Given the description of an element on the screen output the (x, y) to click on. 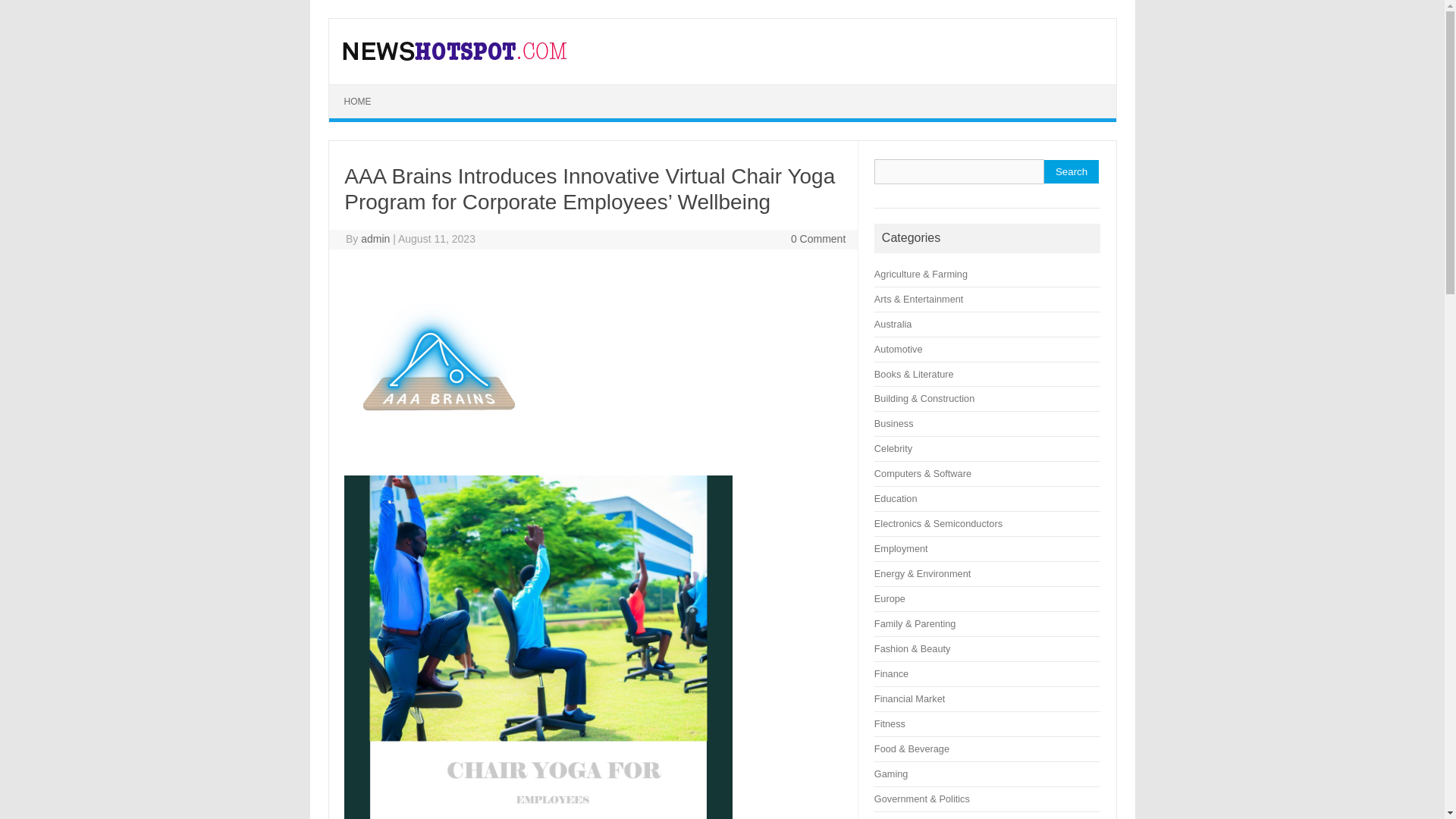
Europe (890, 598)
Australia (893, 324)
admin (375, 238)
Skip to content (363, 89)
Search (1070, 171)
Employment (901, 548)
Celebrity (893, 448)
HOME (358, 101)
Financial Market (909, 698)
Search (1070, 171)
